Given the description of an element on the screen output the (x, y) to click on. 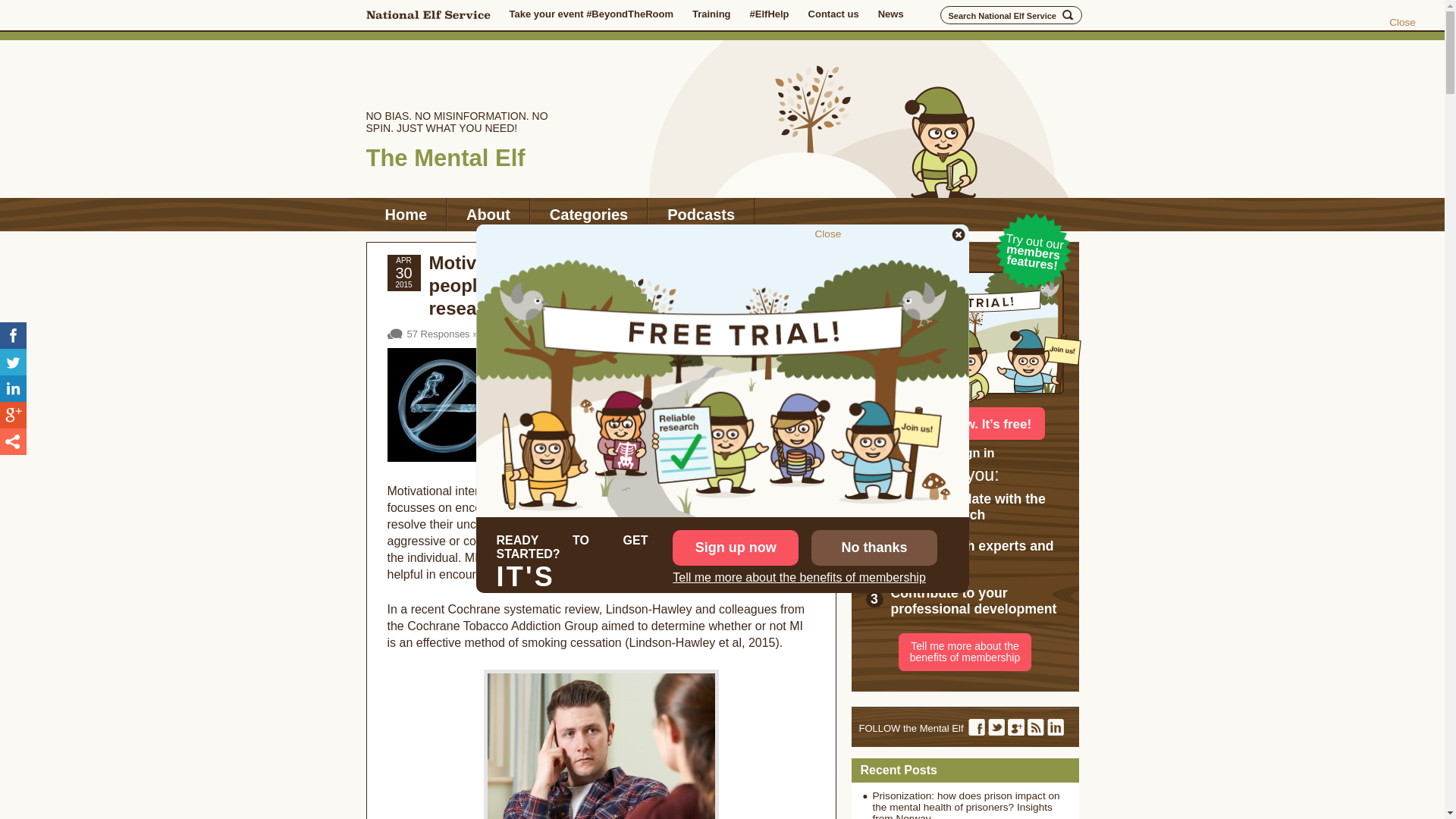
Training (711, 13)
Posts by Olivia Maynard (784, 316)
Share via sharethis (13, 441)
Search (1068, 14)
About (487, 214)
Home (405, 214)
Cytisine and varenicline for smoking cessation (765, 355)
Share on LinkedIn (13, 388)
Categories (588, 214)
Search (1068, 14)
News (890, 13)
Share on Facebook (13, 335)
